Given the description of an element on the screen output the (x, y) to click on. 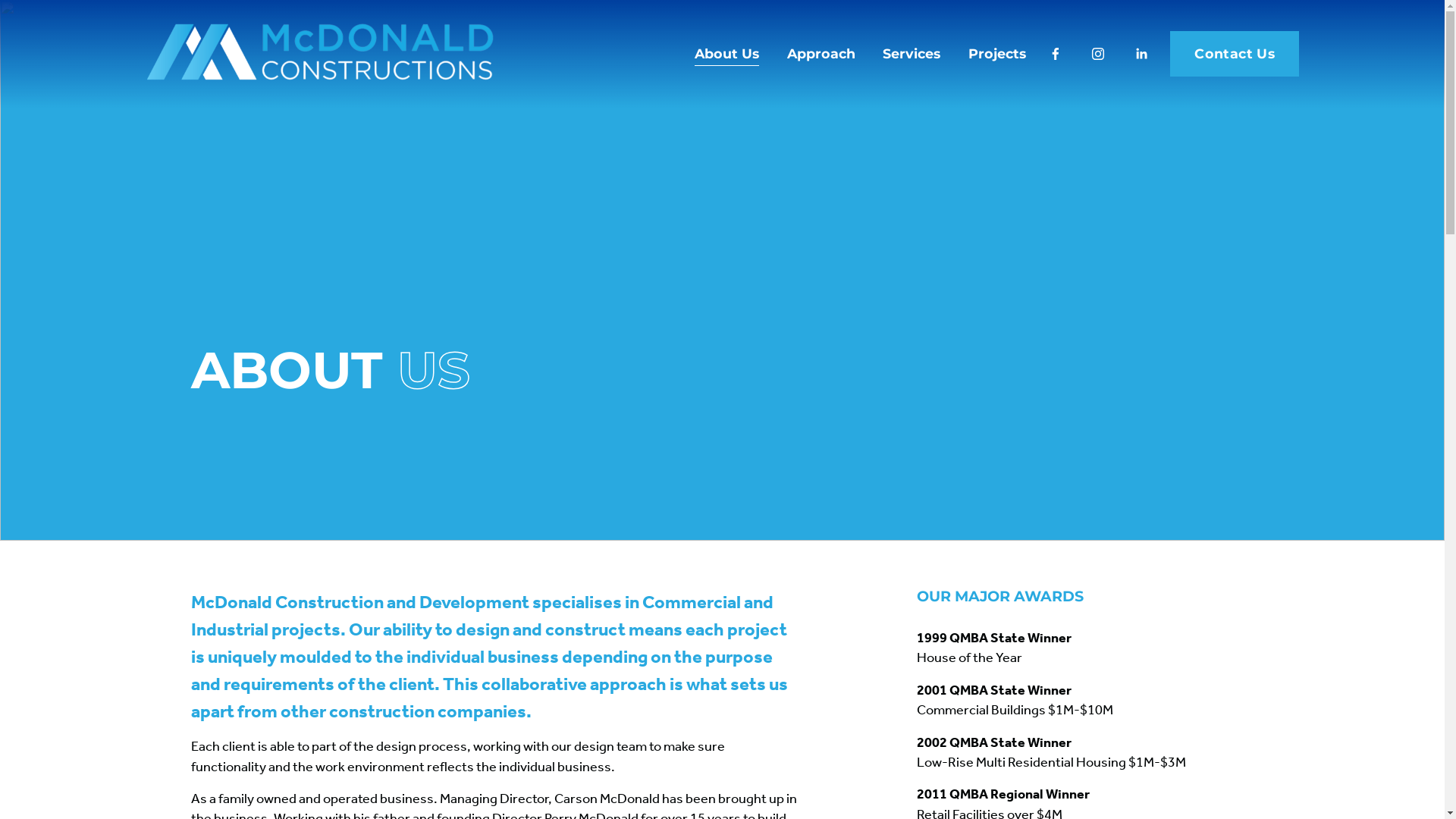
Contact Us Element type: text (1234, 53)
Approach Element type: text (821, 53)
Services Element type: text (911, 53)
About Us Element type: text (726, 53)
Projects Element type: text (997, 53)
